Given the description of an element on the screen output the (x, y) to click on. 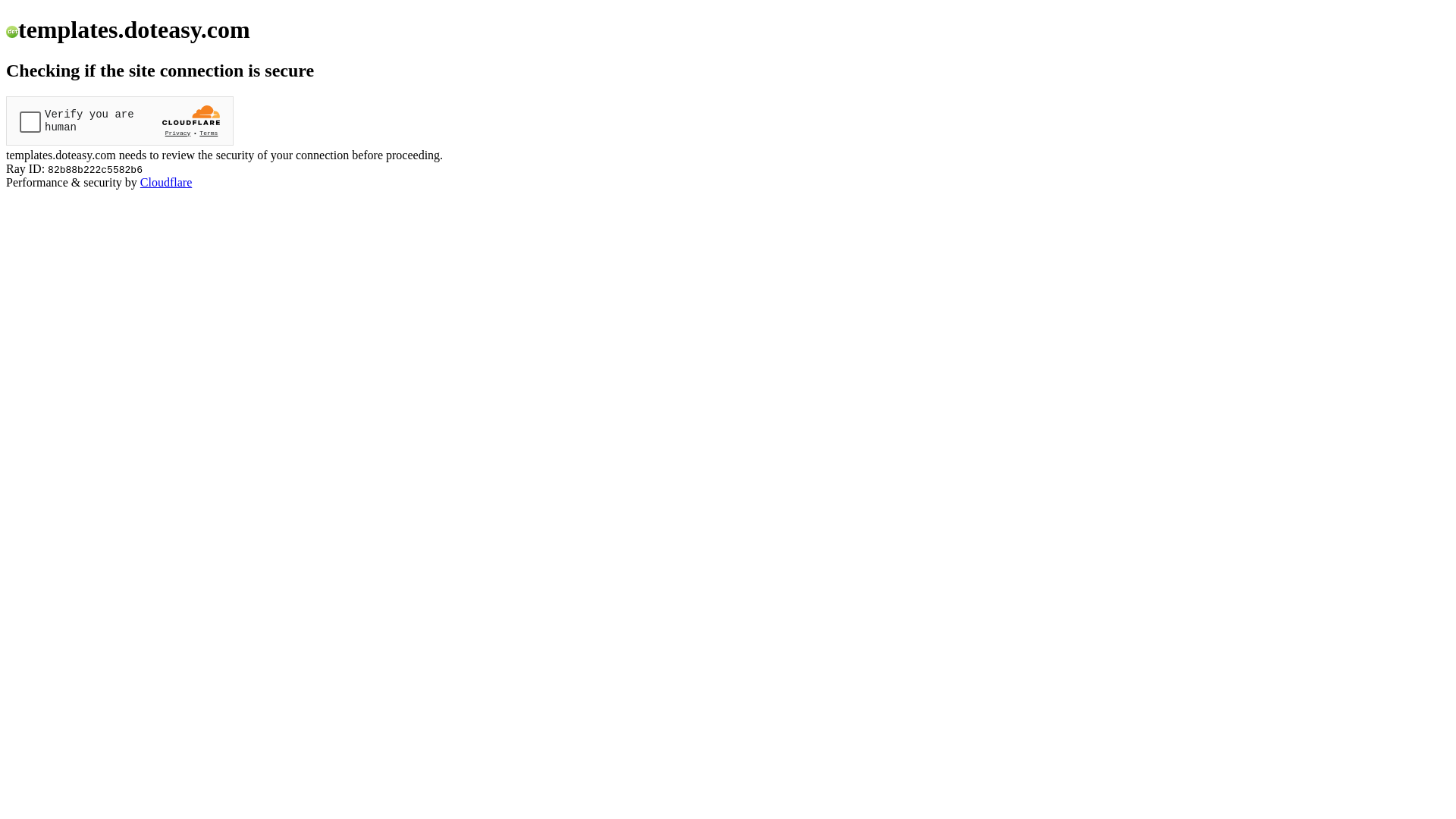
Cloudflare Element type: text (165, 181)
Widget containing a Cloudflare security challenge Element type: hover (119, 120)
